Given the description of an element on the screen output the (x, y) to click on. 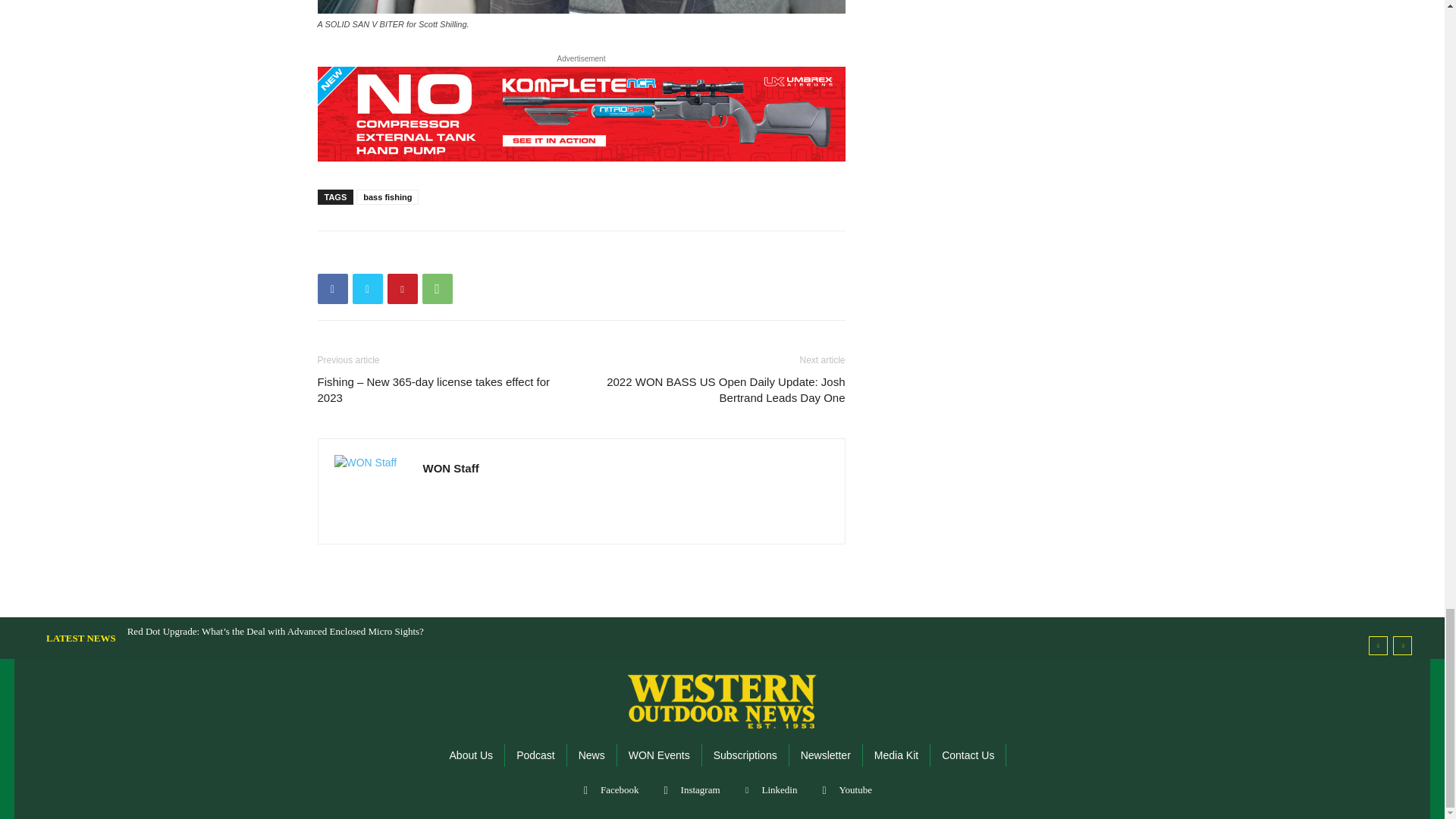
bottomFacebookLike (430, 254)
Facebook (332, 288)
